Given the description of an element on the screen output the (x, y) to click on. 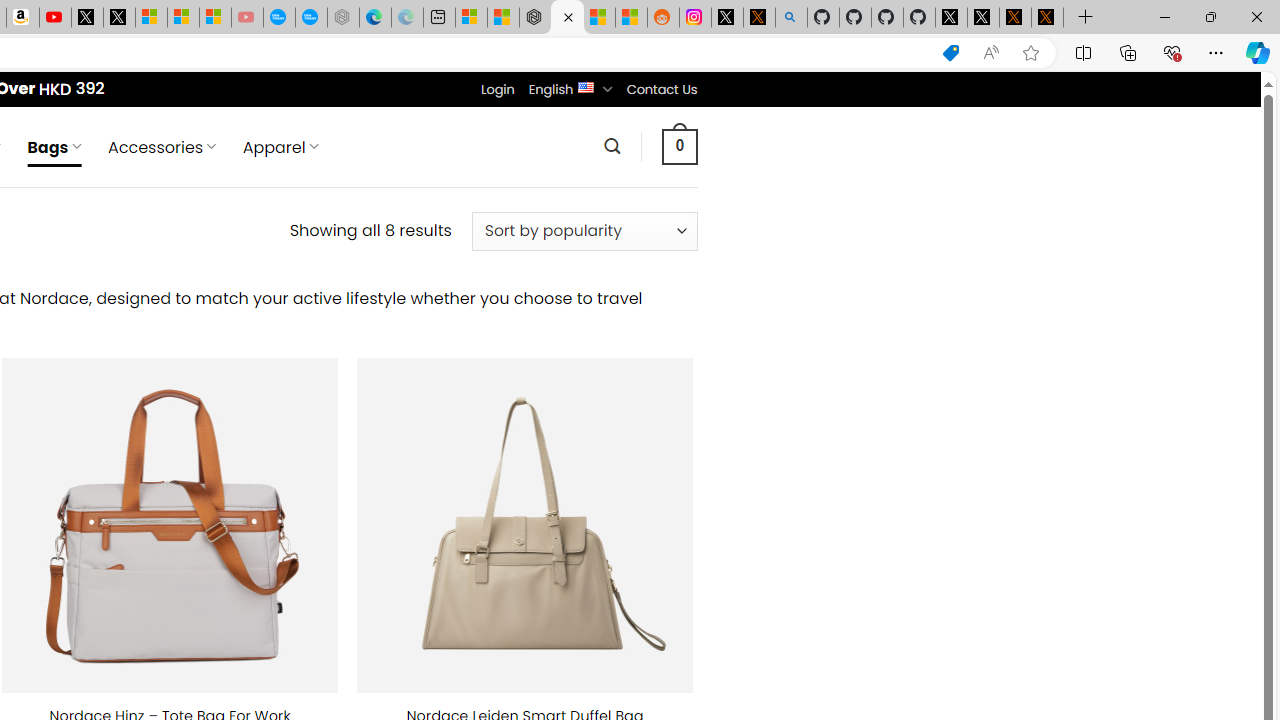
This site has coupons! Shopping in Microsoft Edge (950, 53)
Nordace - Best Sellers (535, 17)
Contact Us (661, 89)
English (586, 86)
Nordace - Duffels (566, 17)
  0   (679, 146)
Log in to X / X (727, 17)
X Privacy Policy (1047, 17)
